Given the description of an element on the screen output the (x, y) to click on. 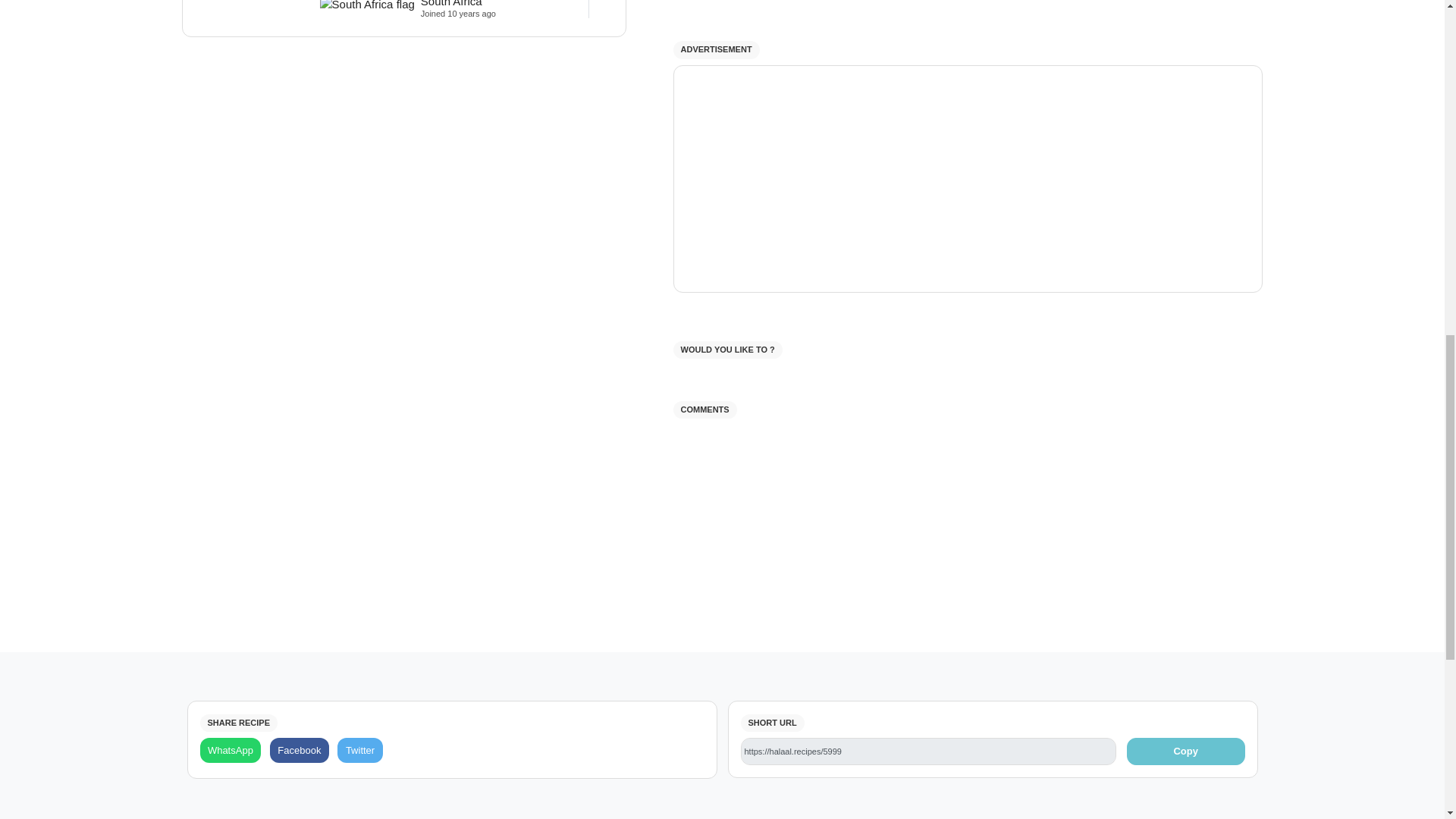
WhatsApp (231, 749)
Copy (1185, 750)
Facebook (299, 749)
Twitter (359, 749)
